Given the description of an element on the screen output the (x, y) to click on. 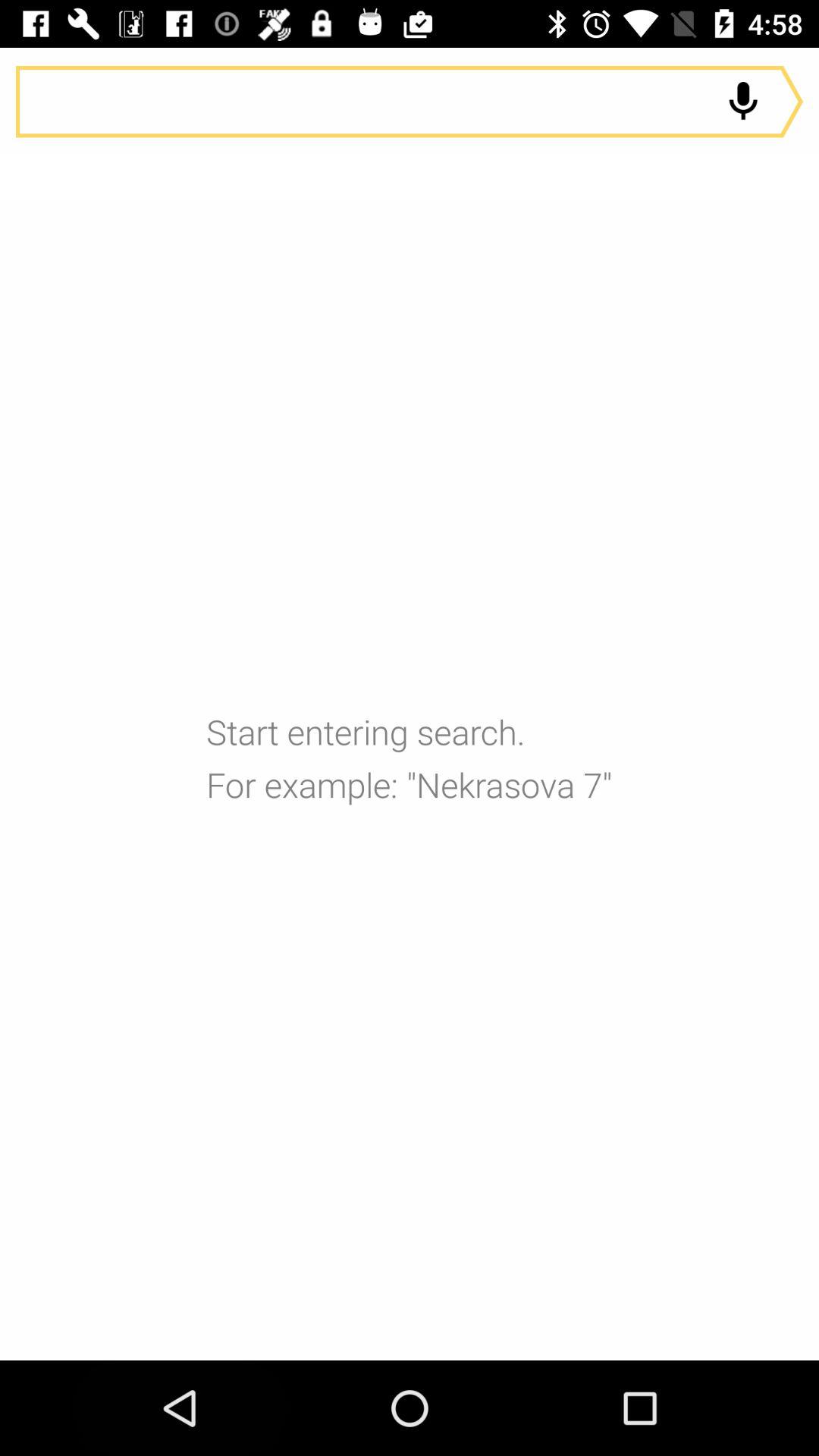
enable speak to type (743, 101)
